Given the description of an element on the screen output the (x, y) to click on. 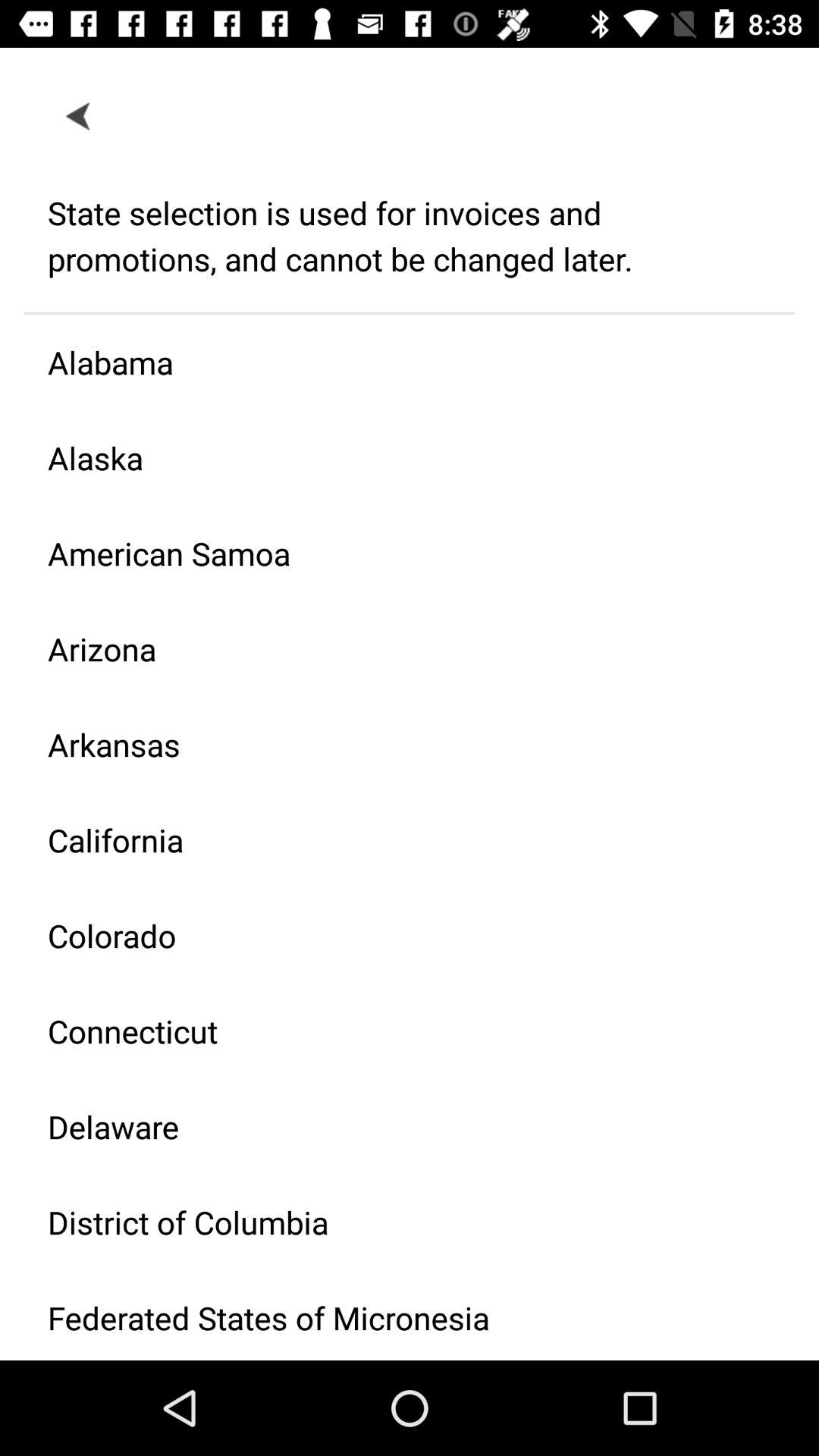
swipe to connecticut icon (397, 1030)
